Given the description of an element on the screen output the (x, y) to click on. 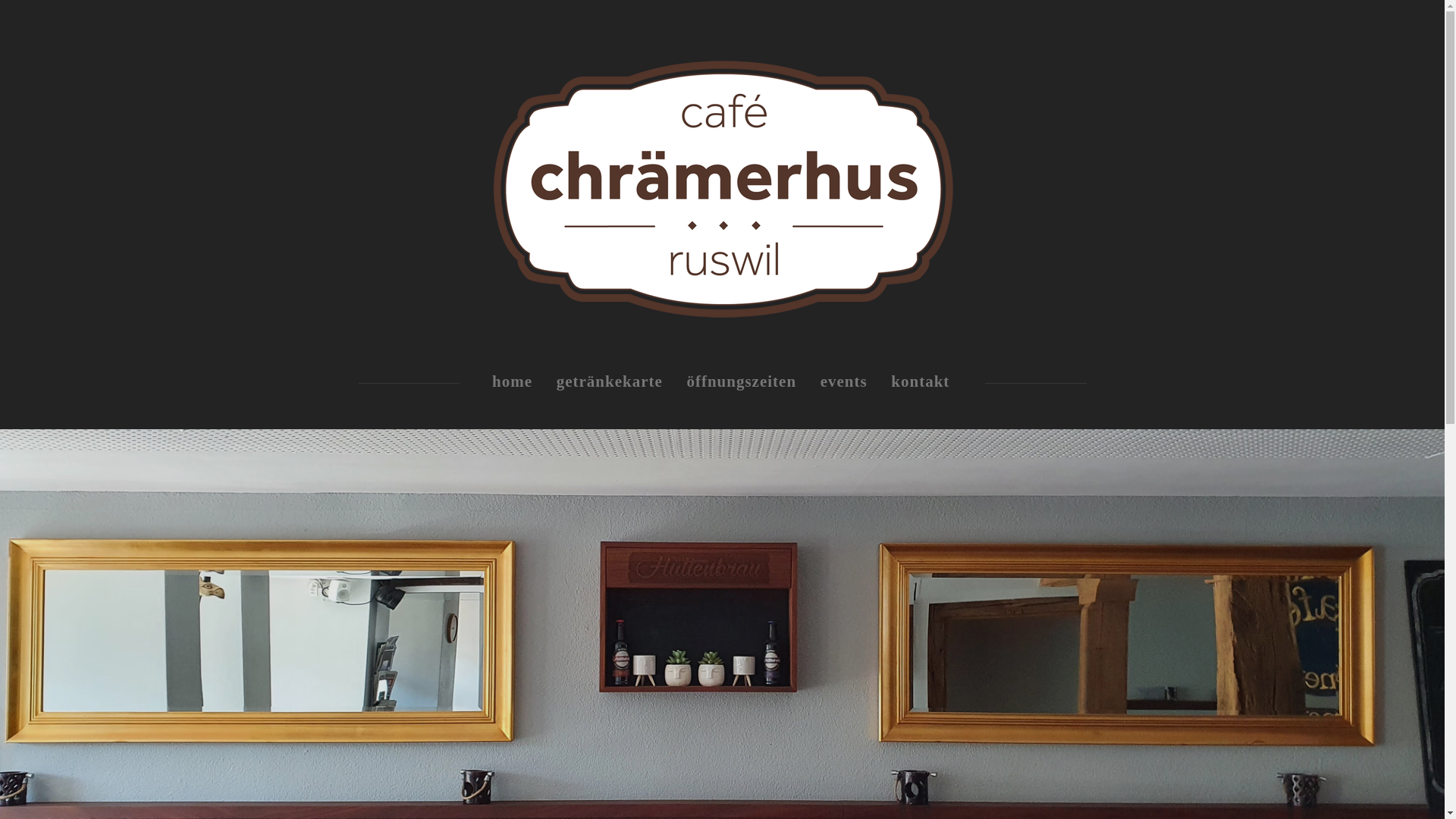
events Element type: text (843, 381)
kontakt Element type: text (920, 381)
home Element type: text (511, 381)
